Given the description of an element on the screen output the (x, y) to click on. 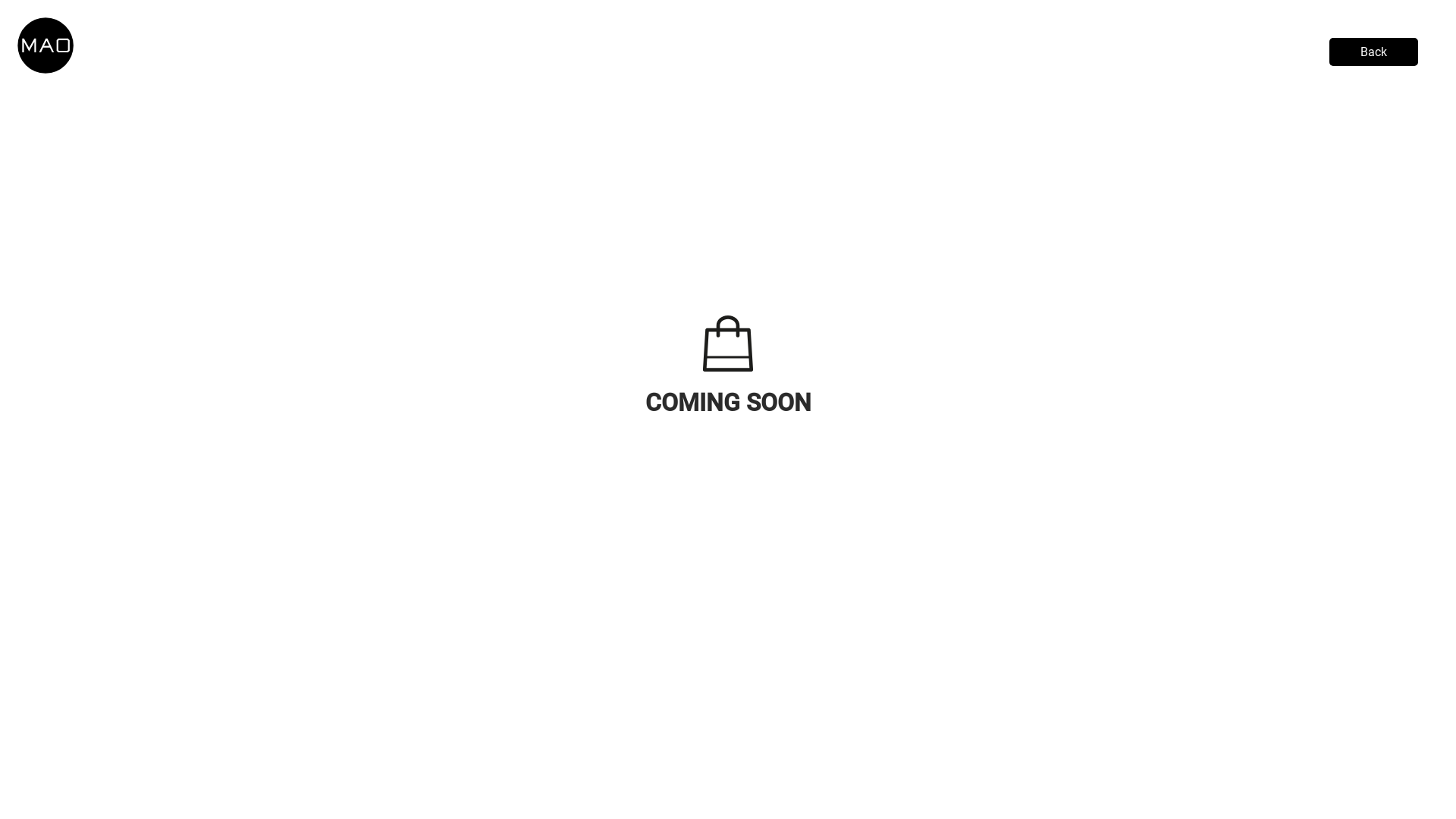
Back Element type: text (1373, 51)
